Given the description of an element on the screen output the (x, y) to click on. 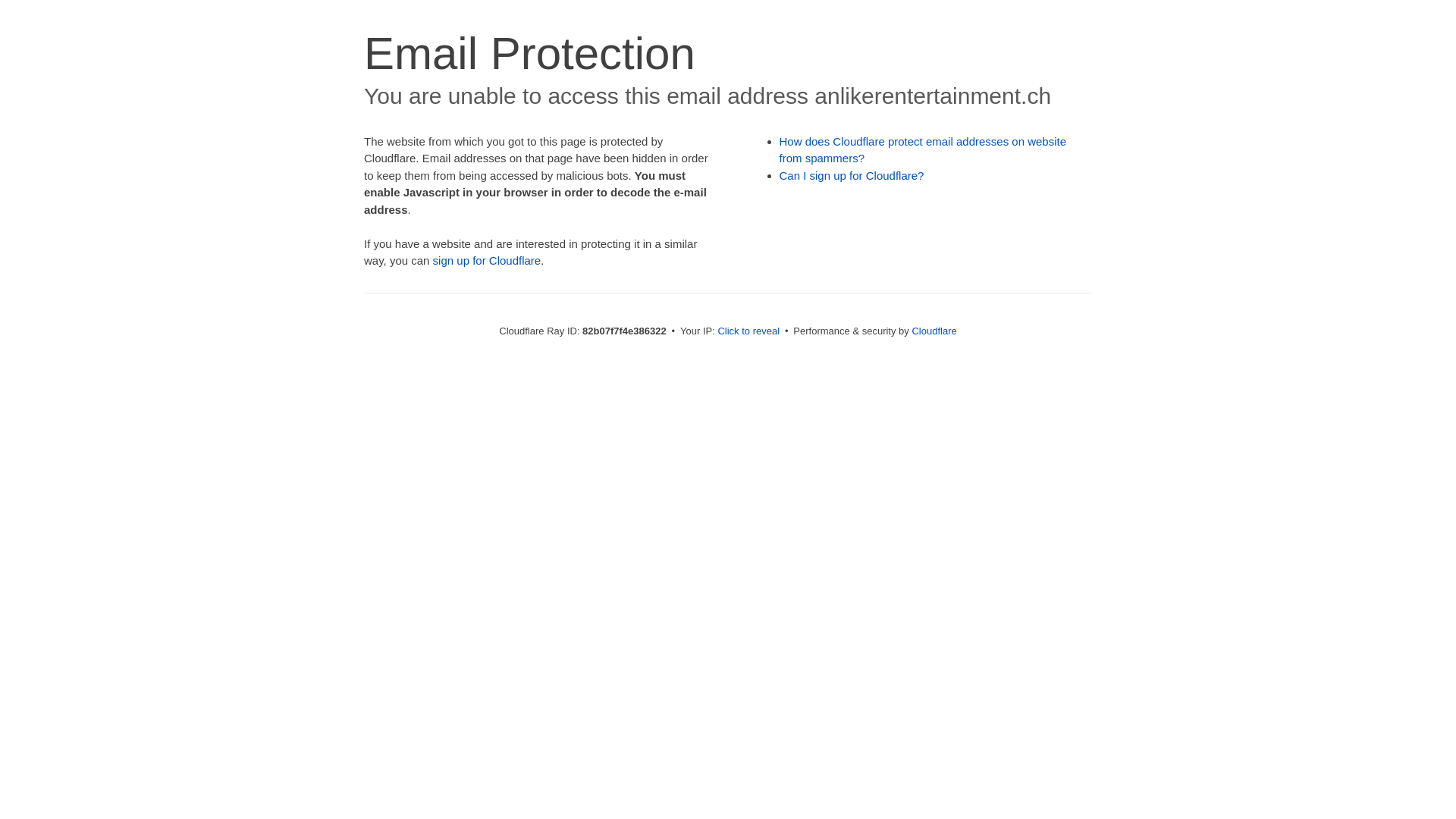
Can I sign up for Cloudflare? Element type: text (851, 175)
Cloudflare Element type: text (933, 330)
sign up for Cloudflare Element type: text (487, 260)
Click to reveal Element type: text (748, 330)
